Given the description of an element on the screen output the (x, y) to click on. 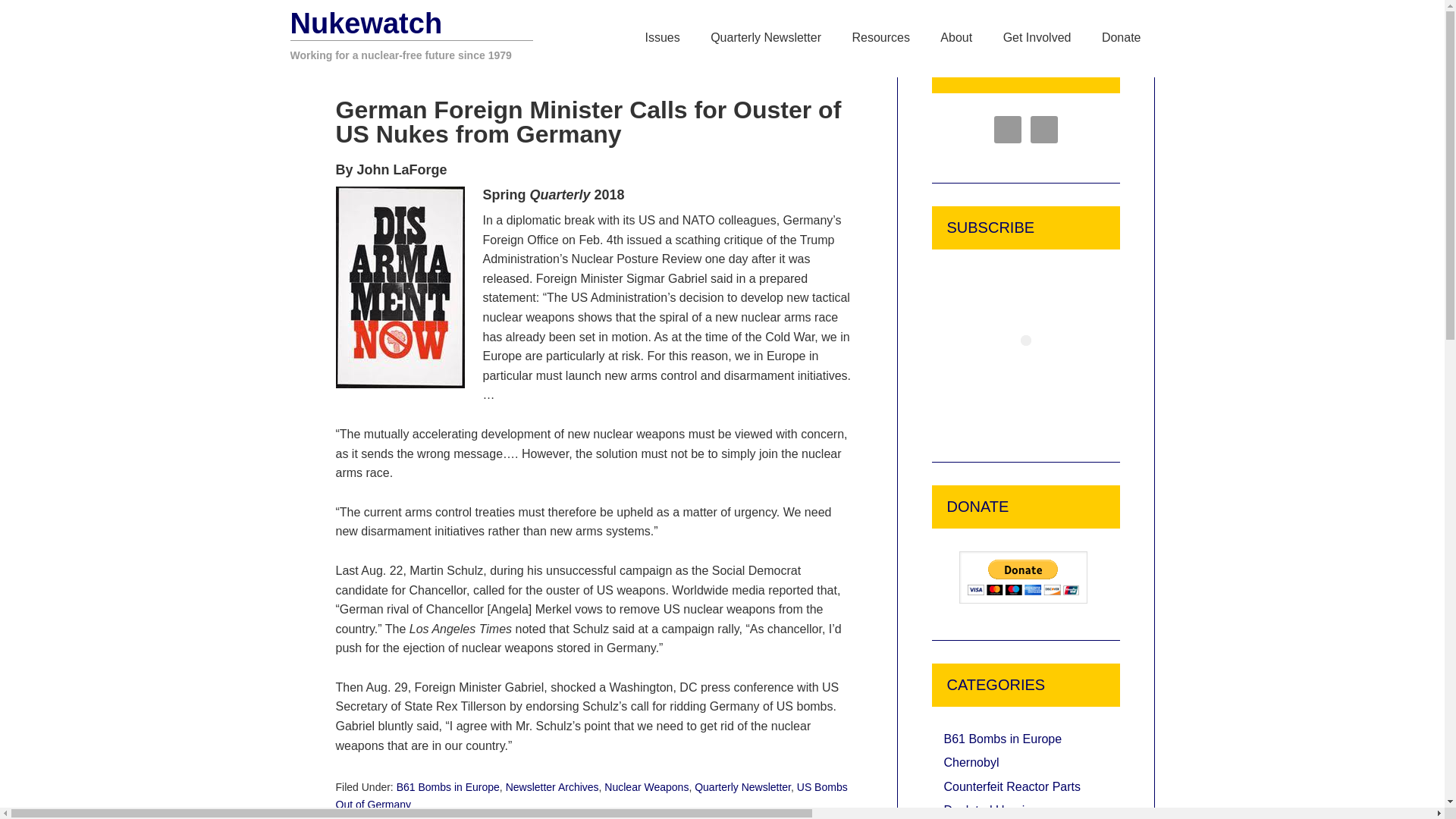
Get Involved (1037, 38)
B61 Bombs in Europe (447, 787)
NUKEWATCH (441, 69)
LEAVE A COMMENT (775, 68)
Nukewatch (365, 23)
Resources (880, 38)
Quarterly Newsletter (765, 38)
